Given the description of an element on the screen output the (x, y) to click on. 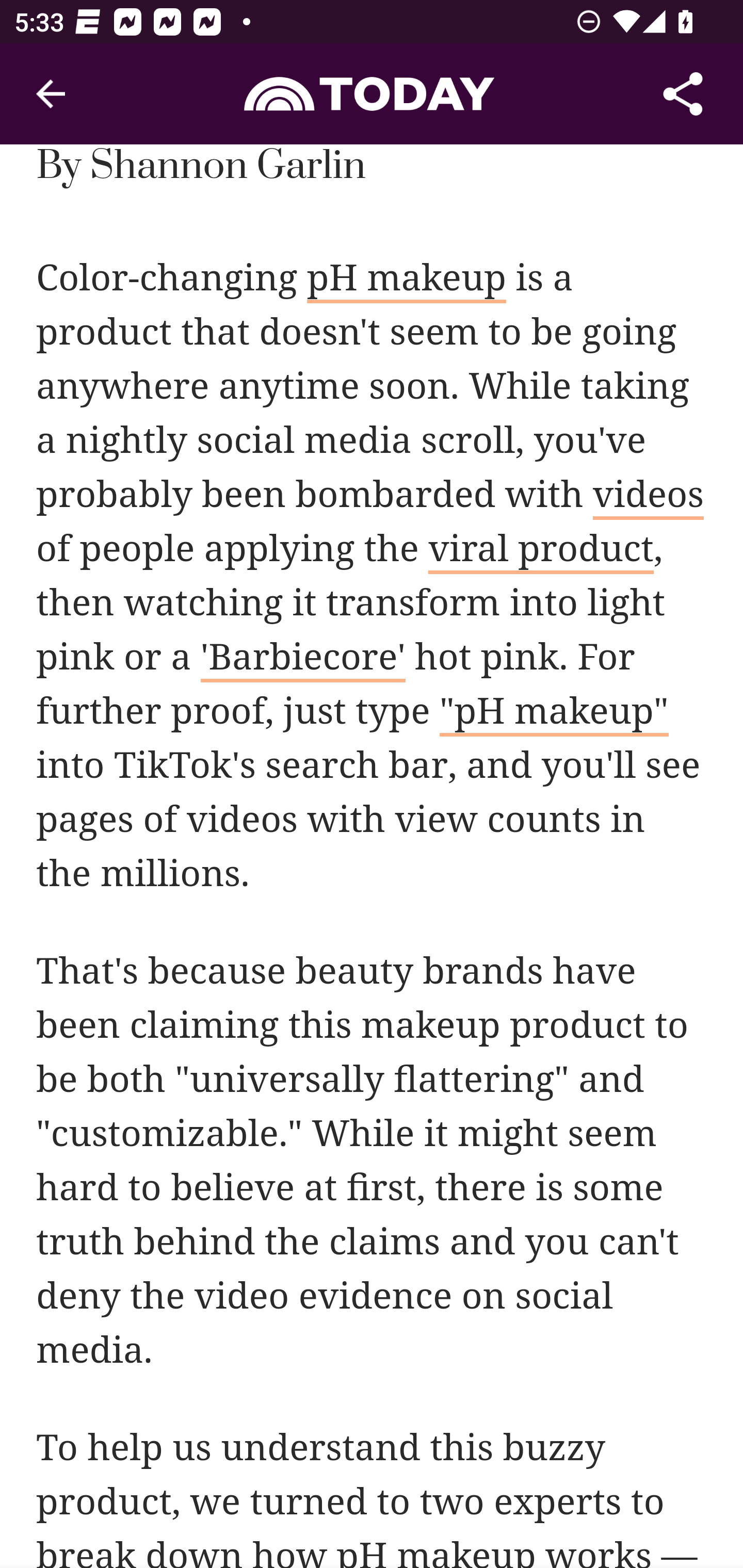
Navigate up (50, 93)
Share Article, button (683, 94)
Header, Today (371, 93)
Shannon Garlin (227, 168)
pH makeup (405, 280)
videos (648, 498)
viral product (541, 551)
'Barbiecore' (302, 659)
"pH makeup" (553, 714)
